Given the description of an element on the screen output the (x, y) to click on. 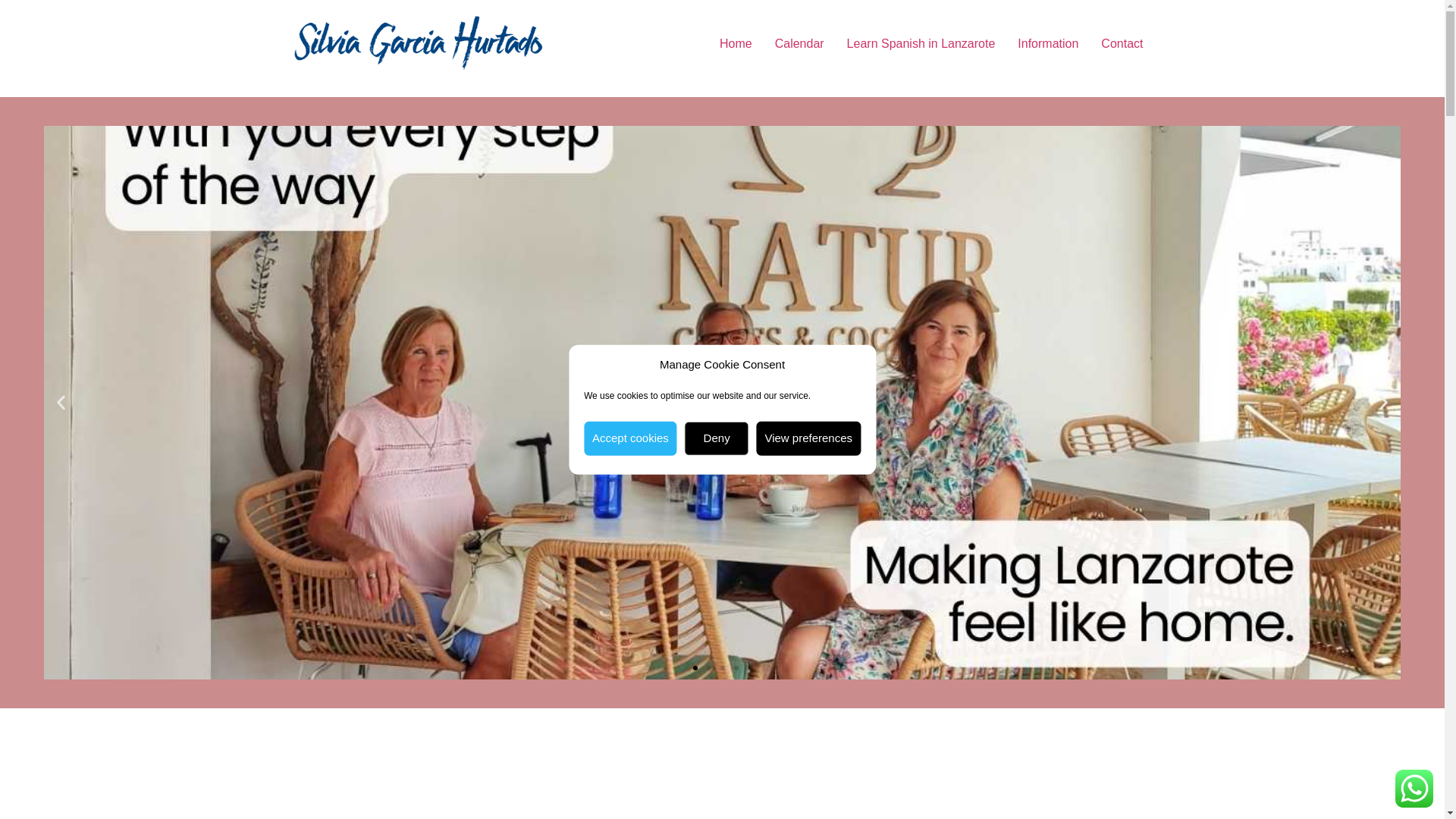
Calendar (798, 43)
View preferences (807, 437)
Deny (716, 437)
Accept cookies (630, 437)
Information (1047, 43)
Learn Spanish in Lanzarote (921, 43)
Contact (1121, 43)
Home (734, 43)
